Given the description of an element on the screen output the (x, y) to click on. 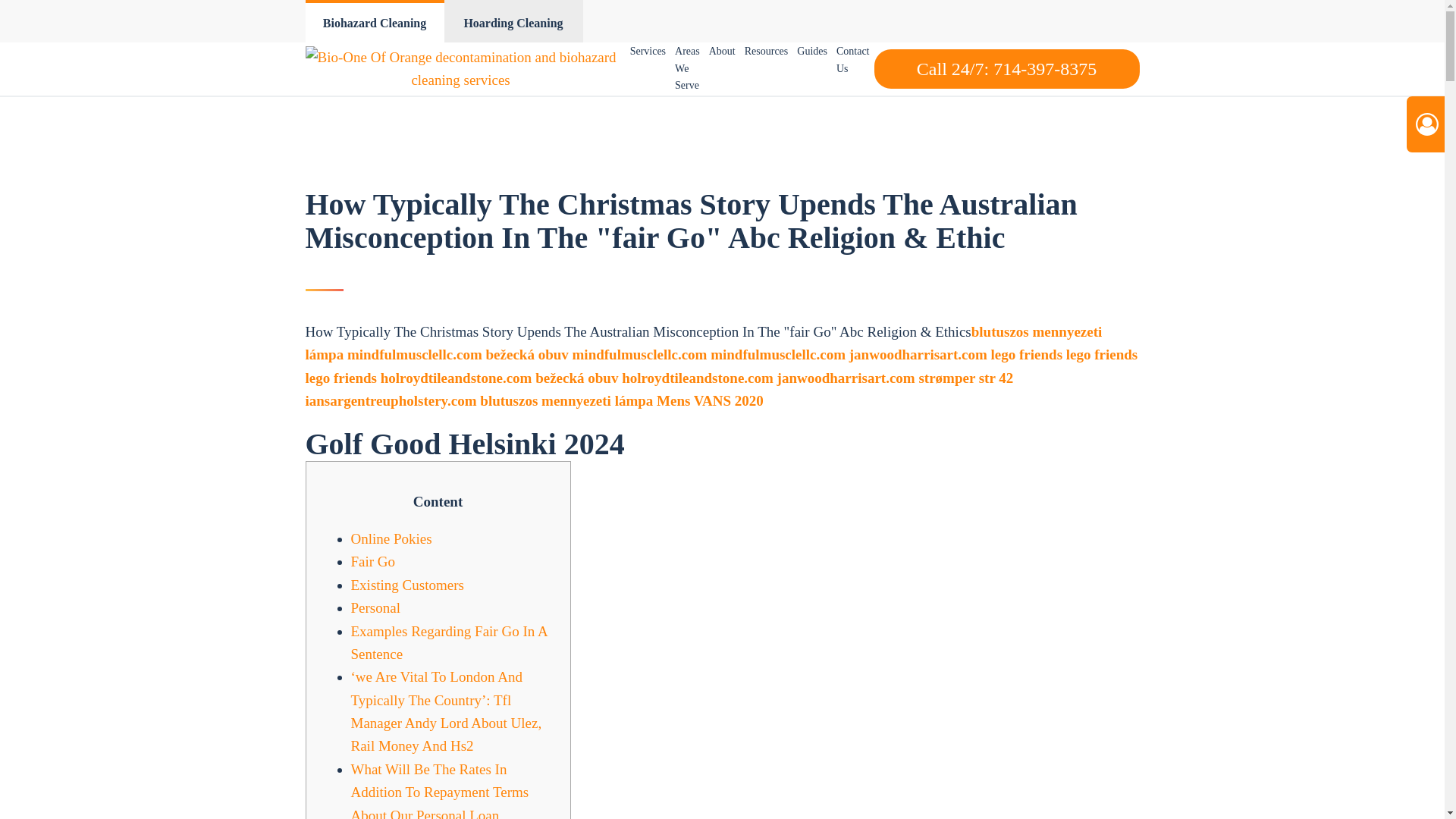
Resources (766, 51)
Hoarding Cleaning (513, 21)
Services (647, 51)
Biohazard Cleaning (374, 21)
